Given the description of an element on the screen output the (x, y) to click on. 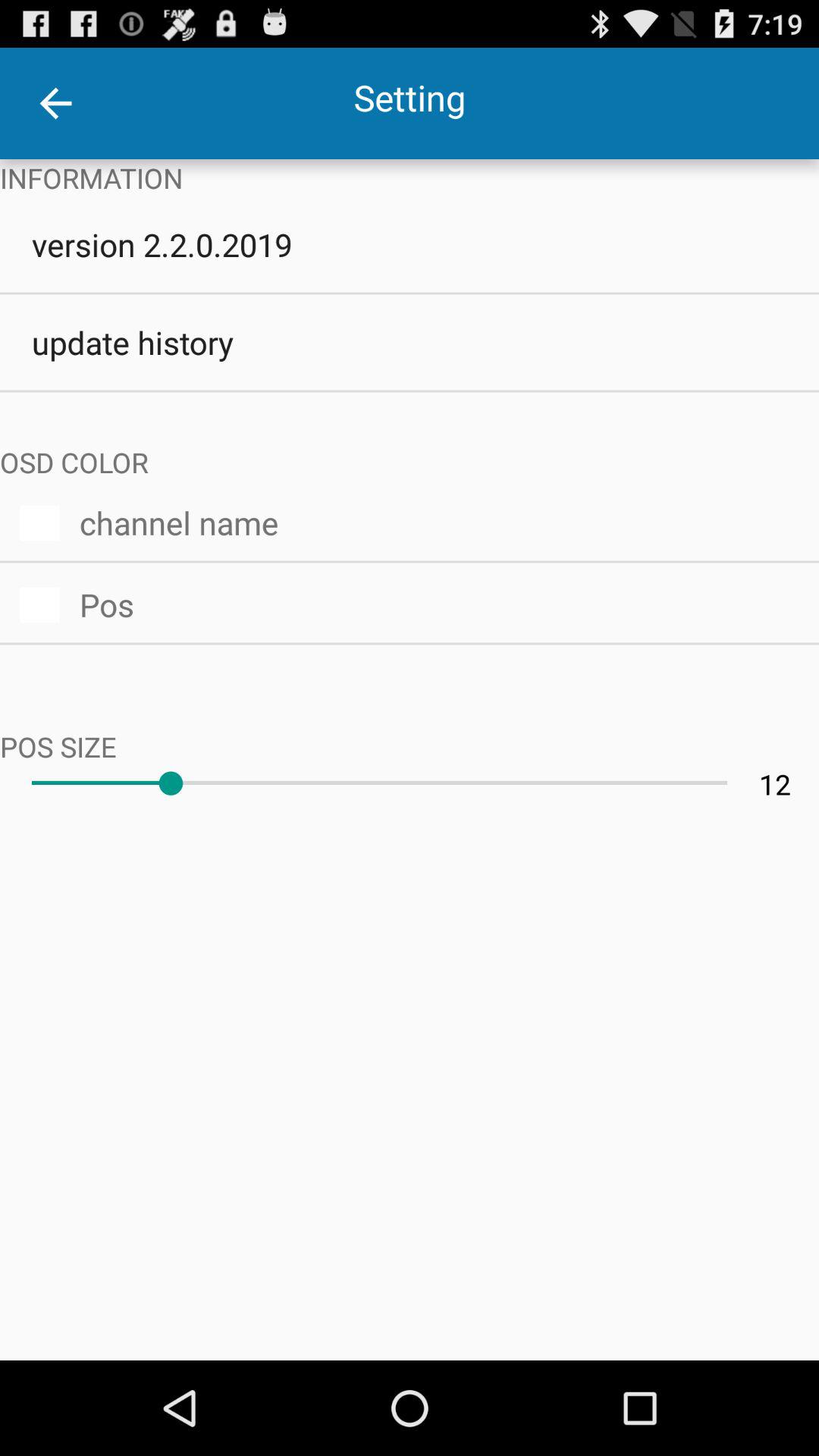
select the icon below osd color item (439, 520)
